Given the description of an element on the screen output the (x, y) to click on. 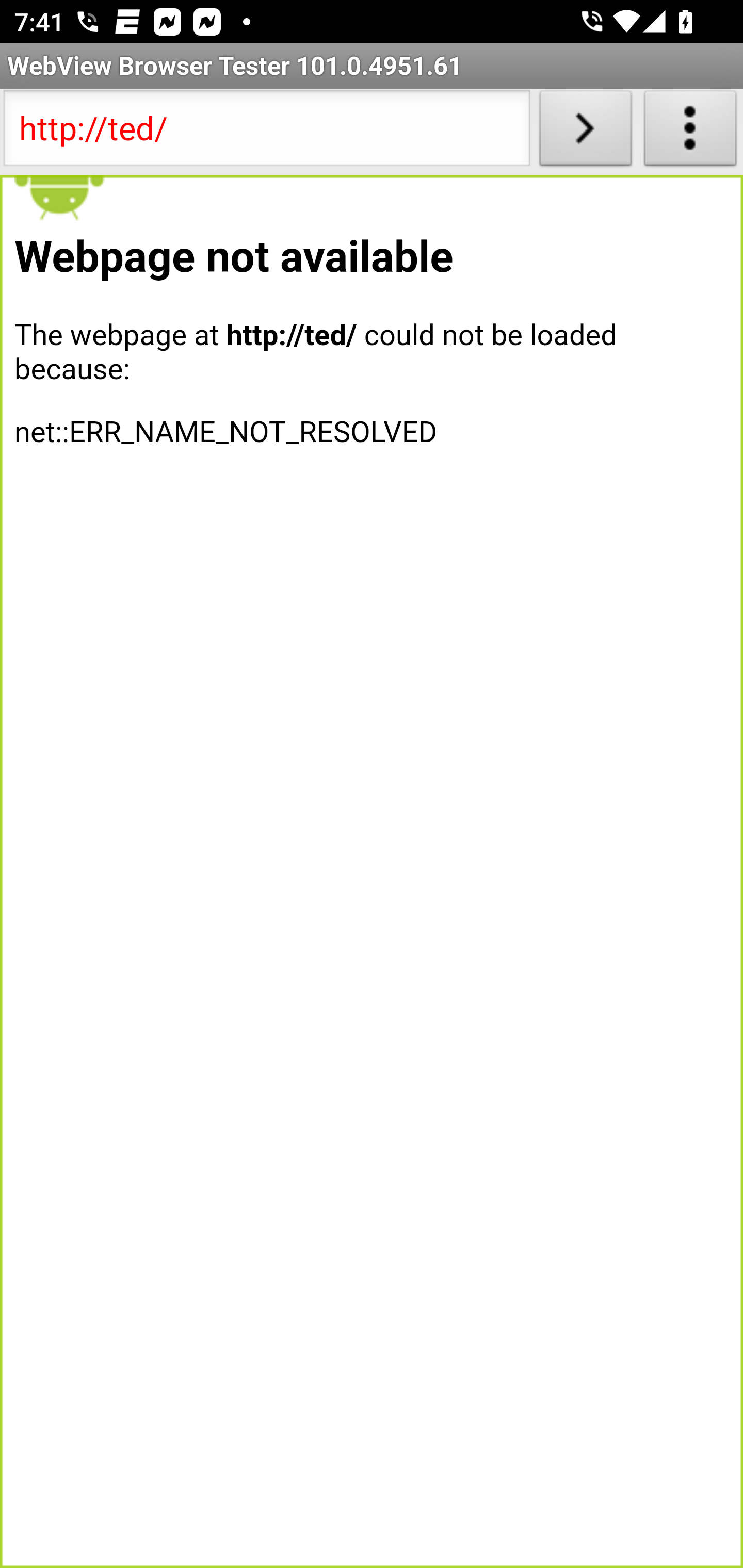
http://ted/ (266, 132)
Load URL (585, 132)
About WebView (690, 132)
